Given the description of an element on the screen output the (x, y) to click on. 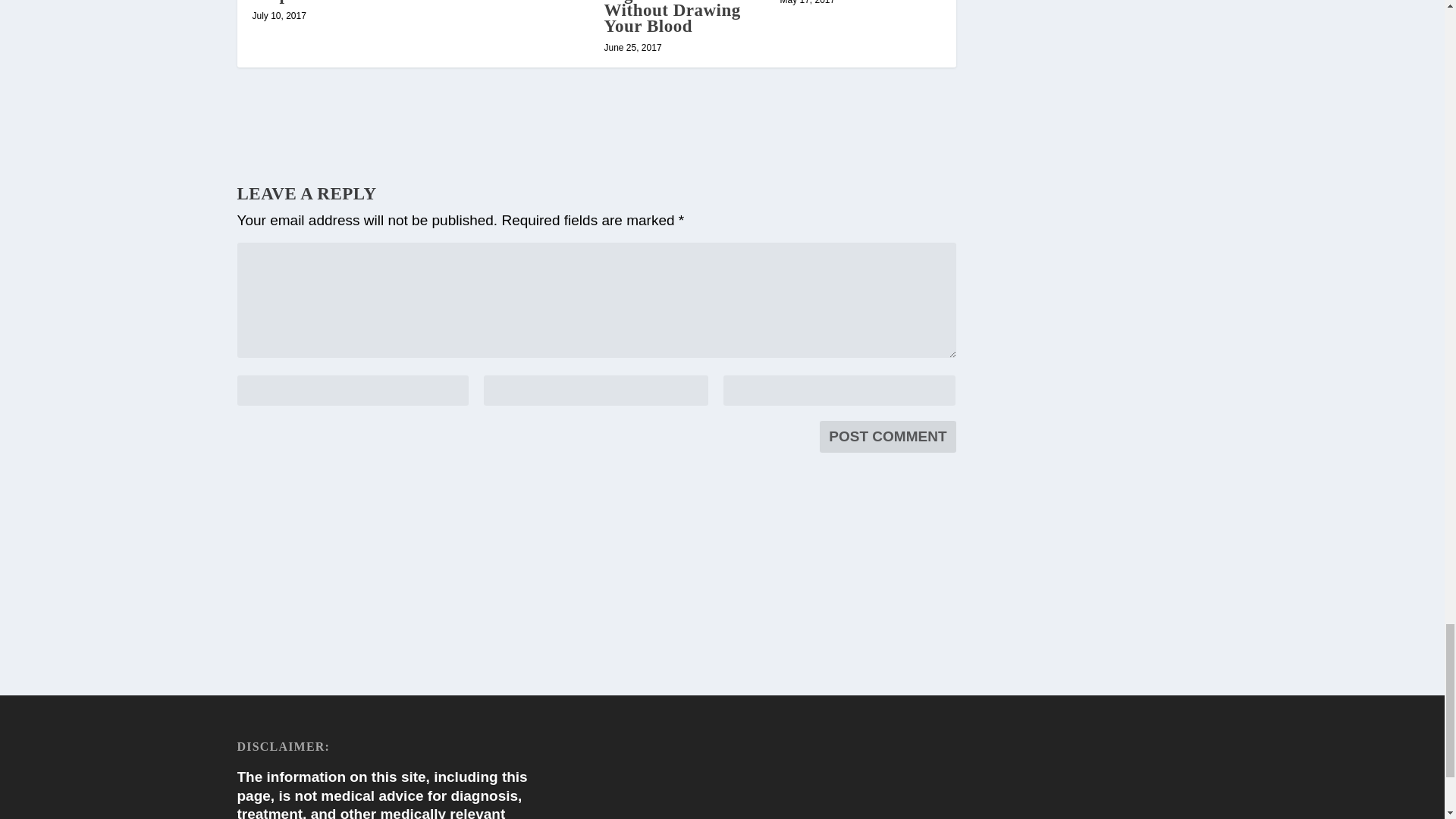
Post Comment (887, 436)
